Given the description of an element on the screen output the (x, y) to click on. 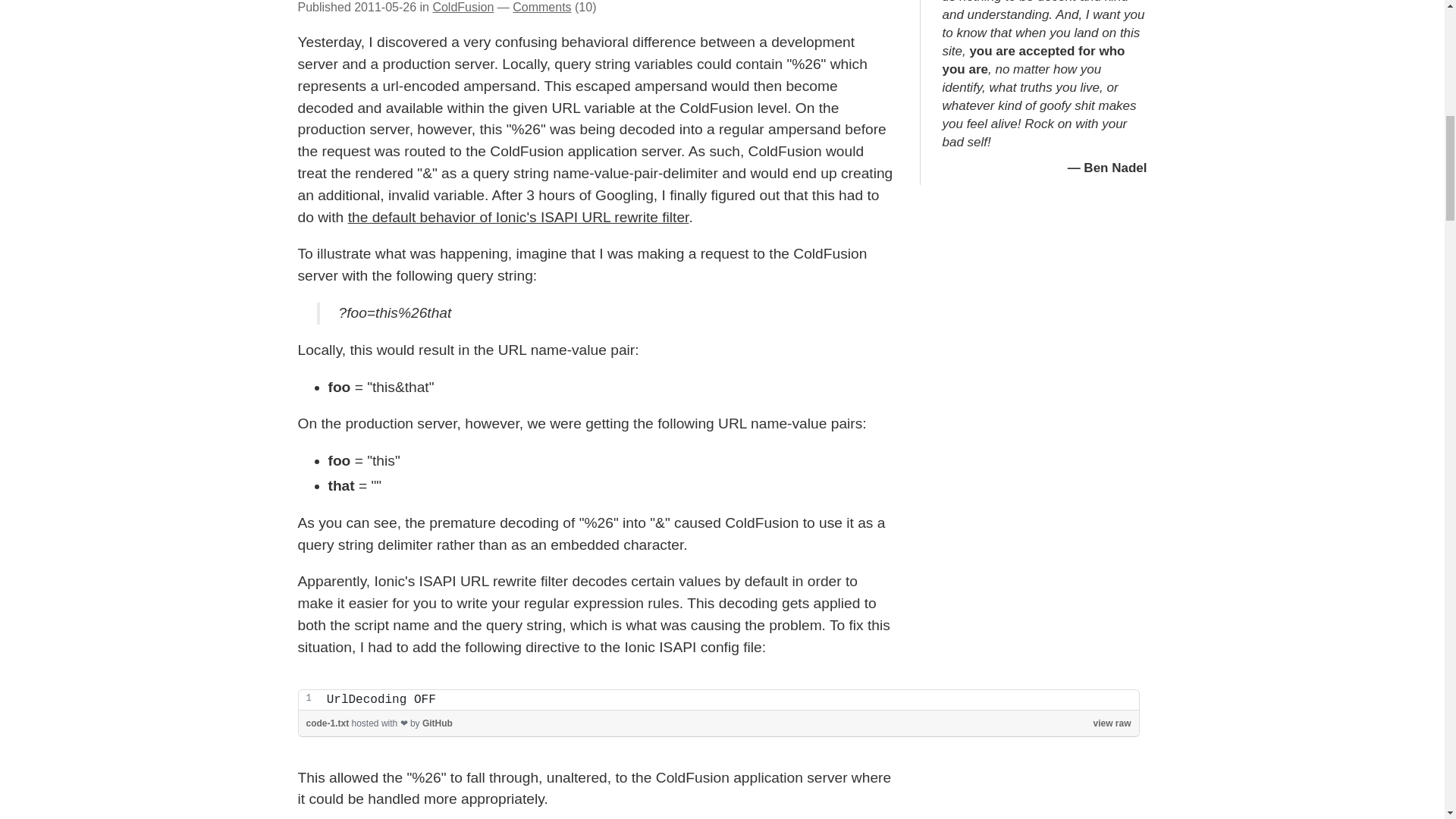
Learn more about Ben Nadel, Co-founder of InVision App, Inc. (1115, 167)
